Given the description of an element on the screen output the (x, y) to click on. 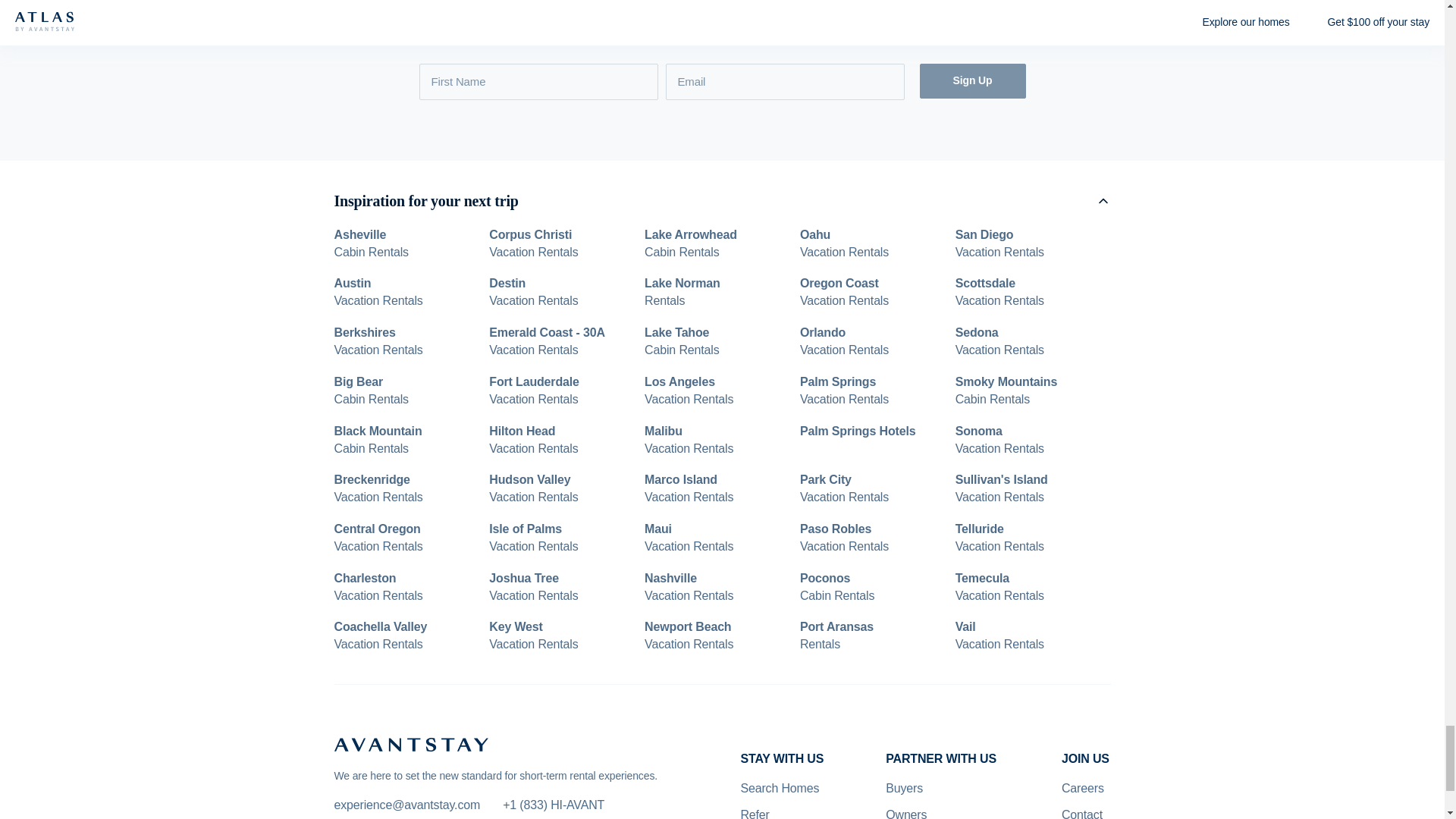
AVANTSTAY (410, 744)
